Given the description of an element on the screen output the (x, y) to click on. 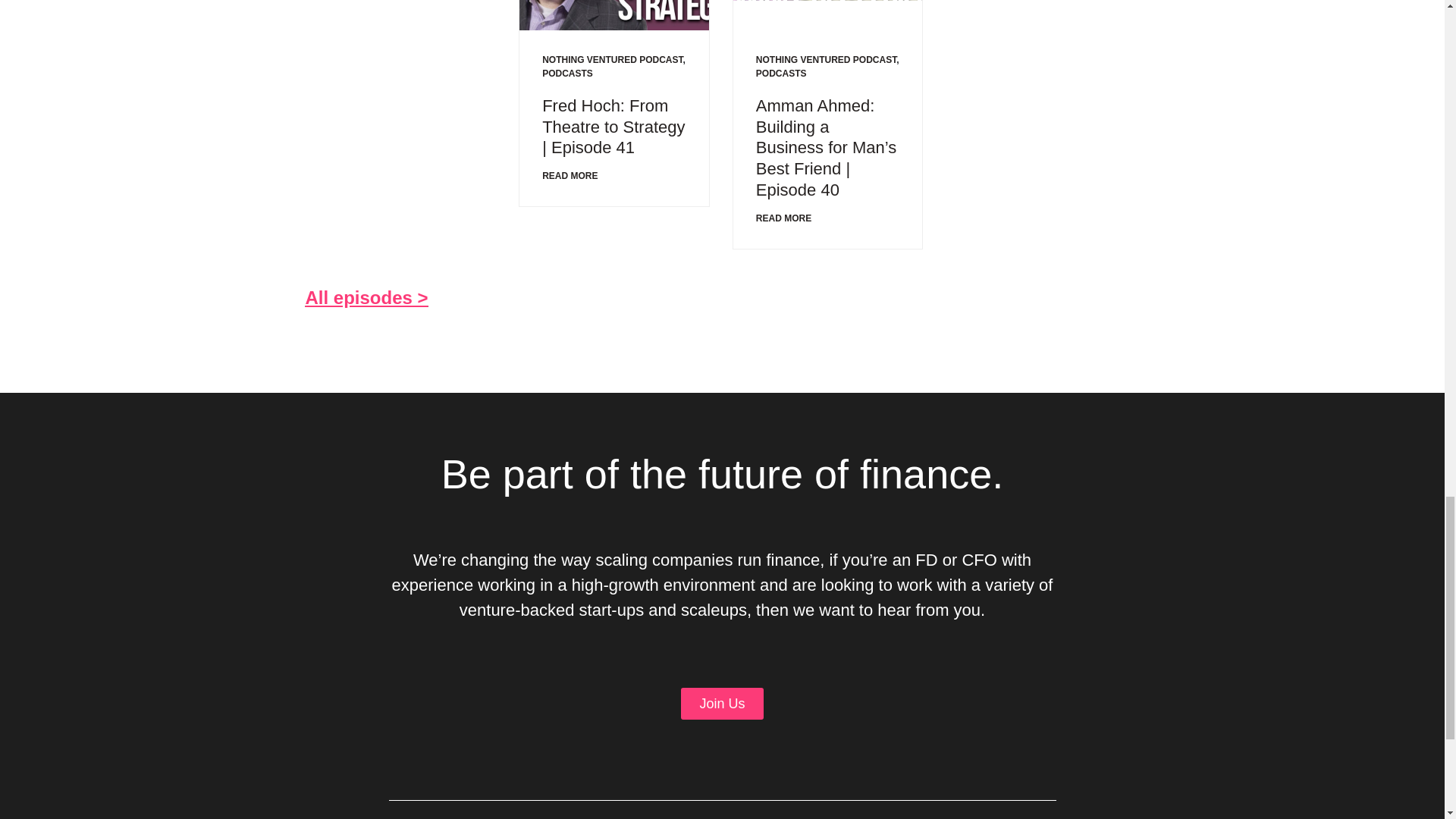
NOTHING VENTURED PODCAST (611, 59)
PODCASTS (566, 72)
READ MORE (782, 218)
NOTHING VENTURED PODCAST (825, 59)
READ MORE (568, 175)
PODCASTS (780, 72)
